Given the description of an element on the screen output the (x, y) to click on. 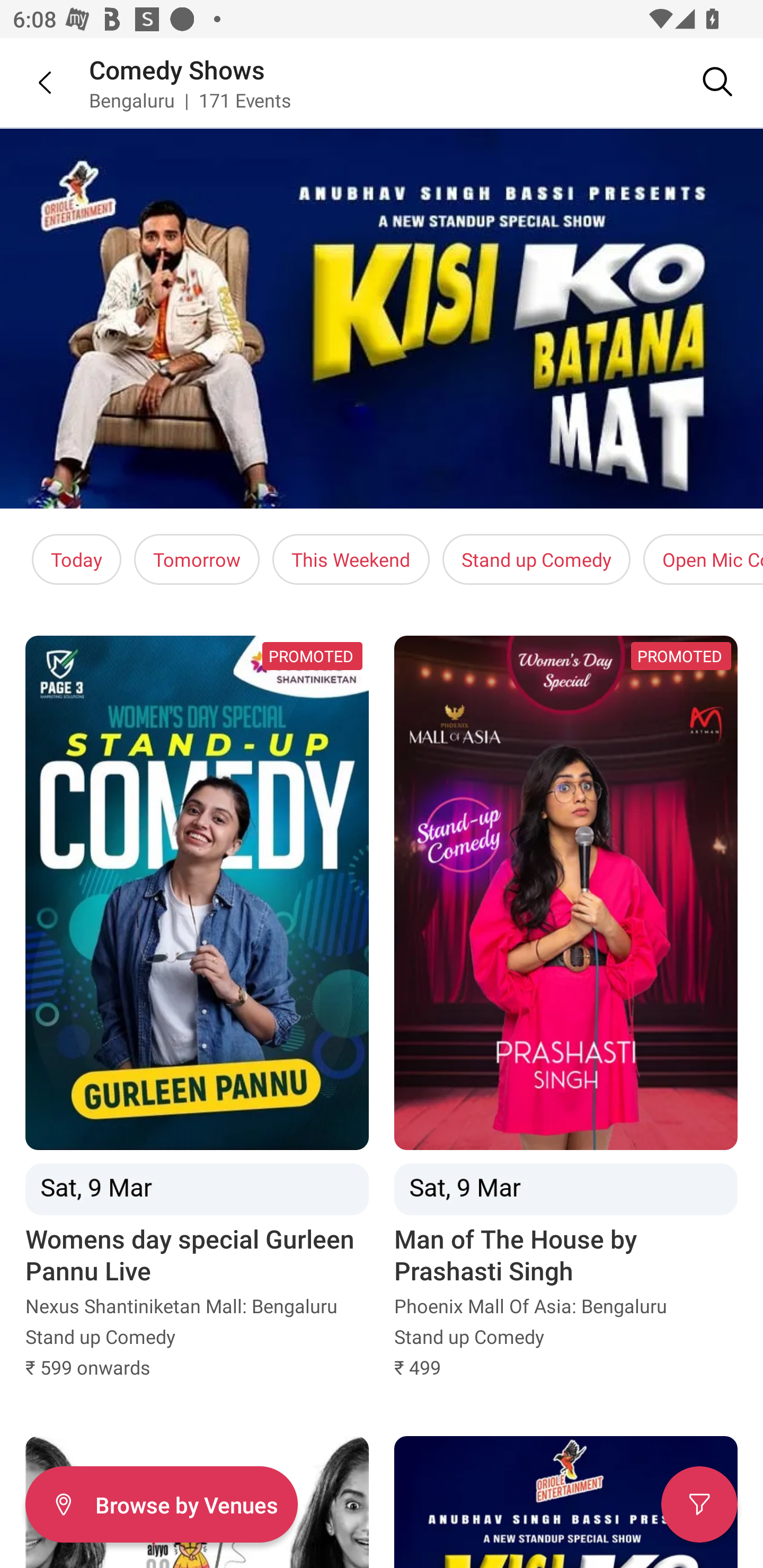
Back (31, 82)
Comedy Shows (176, 68)
Bengaluru  |  171 Events (190, 99)
Today (76, 559)
Tomorrow (196, 559)
This Weekend (350, 559)
Stand up Comedy (536, 559)
Open Mic Comedy (703, 559)
Filter Browse by Venues (161, 1504)
Filter (699, 1504)
